Given the description of an element on the screen output the (x, y) to click on. 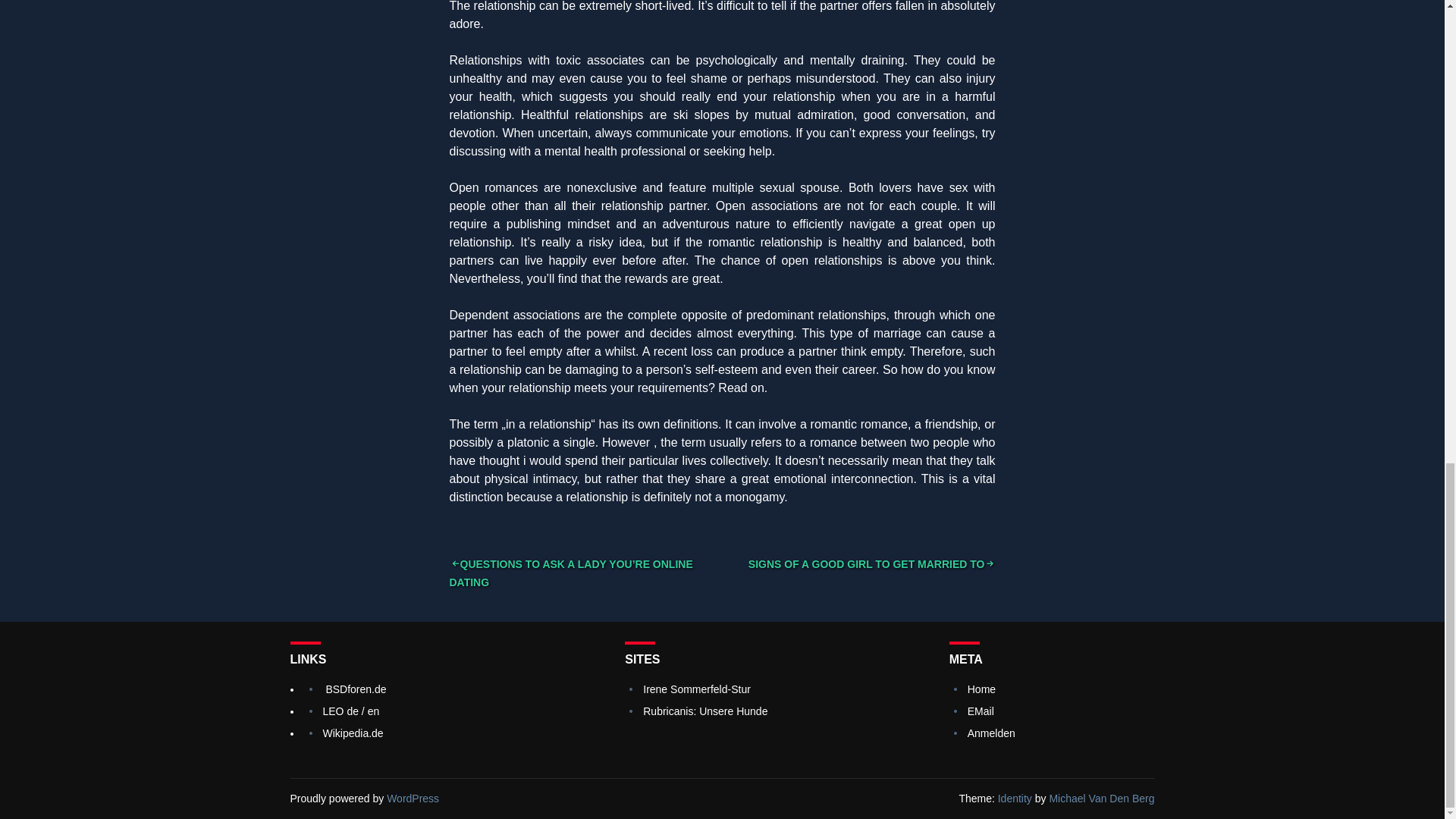
Rubricanis: Unsere Hunde (705, 711)
Home (981, 689)
EMail (981, 711)
BSDforen.de (354, 689)
Anmelden (991, 733)
Irene Sommerfeld-Stur (697, 689)
Michael Van Den Berg (1101, 798)
WordPress (413, 798)
Identity (1014, 798)
Wikipedia.de (353, 733)
SIGNS OF A GOOD GIRL TO GET MARRIED TO (871, 563)
